Given the description of an element on the screen output the (x, y) to click on. 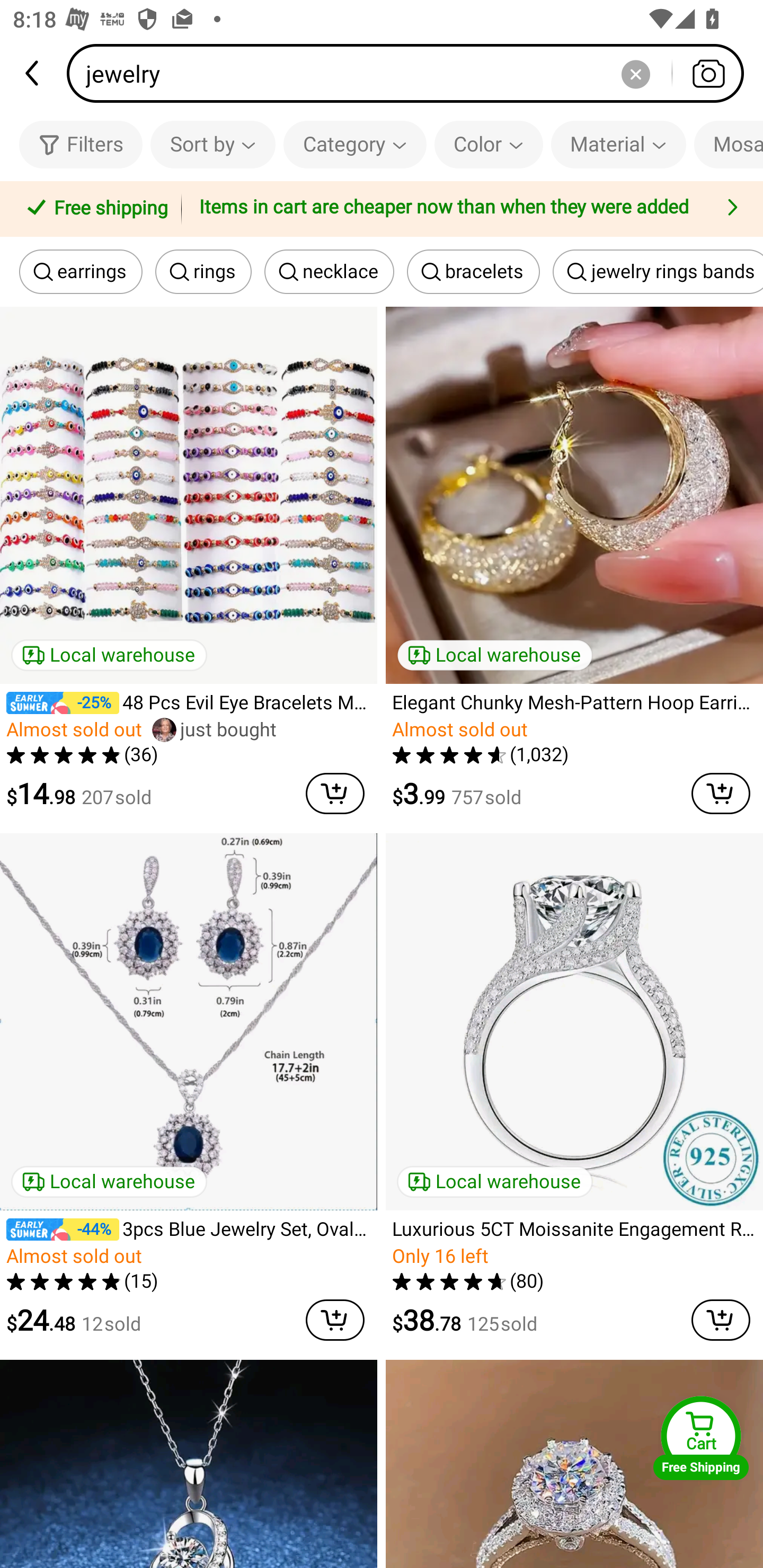
back (33, 72)
jewelry (411, 73)
Delete search history (635, 73)
Search by photo (708, 73)
Filters (80, 143)
Sort by (212, 143)
Category (354, 143)
Color (488, 143)
Material (617, 143)
Mosaic Material (728, 143)
 Free shipping (93, 208)
earrings (80, 271)
rings (202, 271)
necklace (329, 271)
bracelets (473, 271)
jewelry rings bands (657, 271)
